Given the description of an element on the screen output the (x, y) to click on. 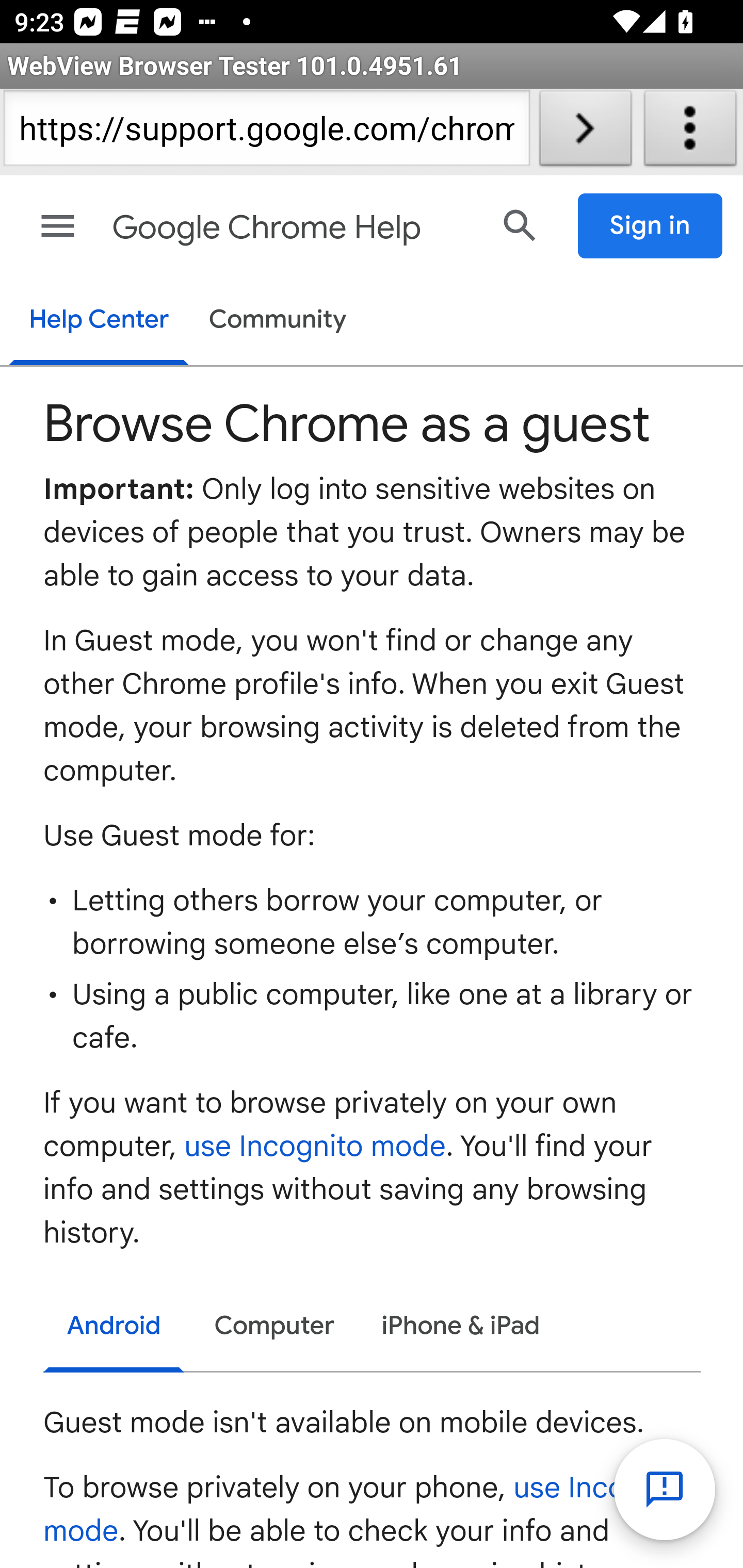
Load URL (585, 132)
About WebView (690, 132)
Main menu (58, 226)
Google Chrome Help (292, 227)
Search Help Center (519, 225)
Sign in (650, 226)
Help Center (98, 320)
Community (277, 320)
use Incognito mode (316, 1146)
Android (114, 1328)
Computer (273, 1327)
iPhone & iPad (460, 1327)
use Incognito mode (368, 1508)
